Given the description of an element on the screen output the (x, y) to click on. 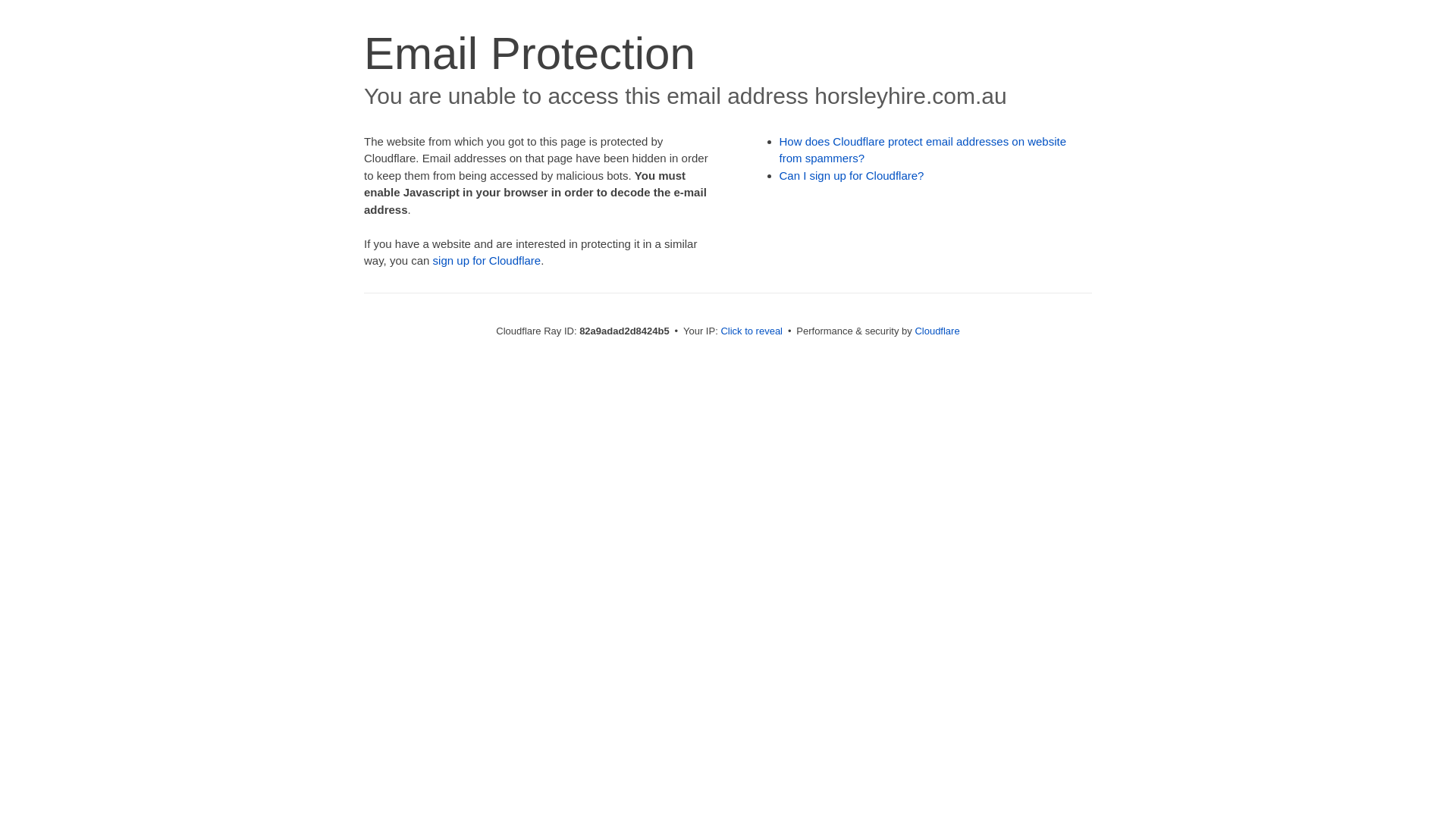
Click to reveal Element type: text (751, 330)
Can I sign up for Cloudflare? Element type: text (851, 175)
sign up for Cloudflare Element type: text (487, 260)
Cloudflare Element type: text (936, 330)
